Given the description of an element on the screen output the (x, y) to click on. 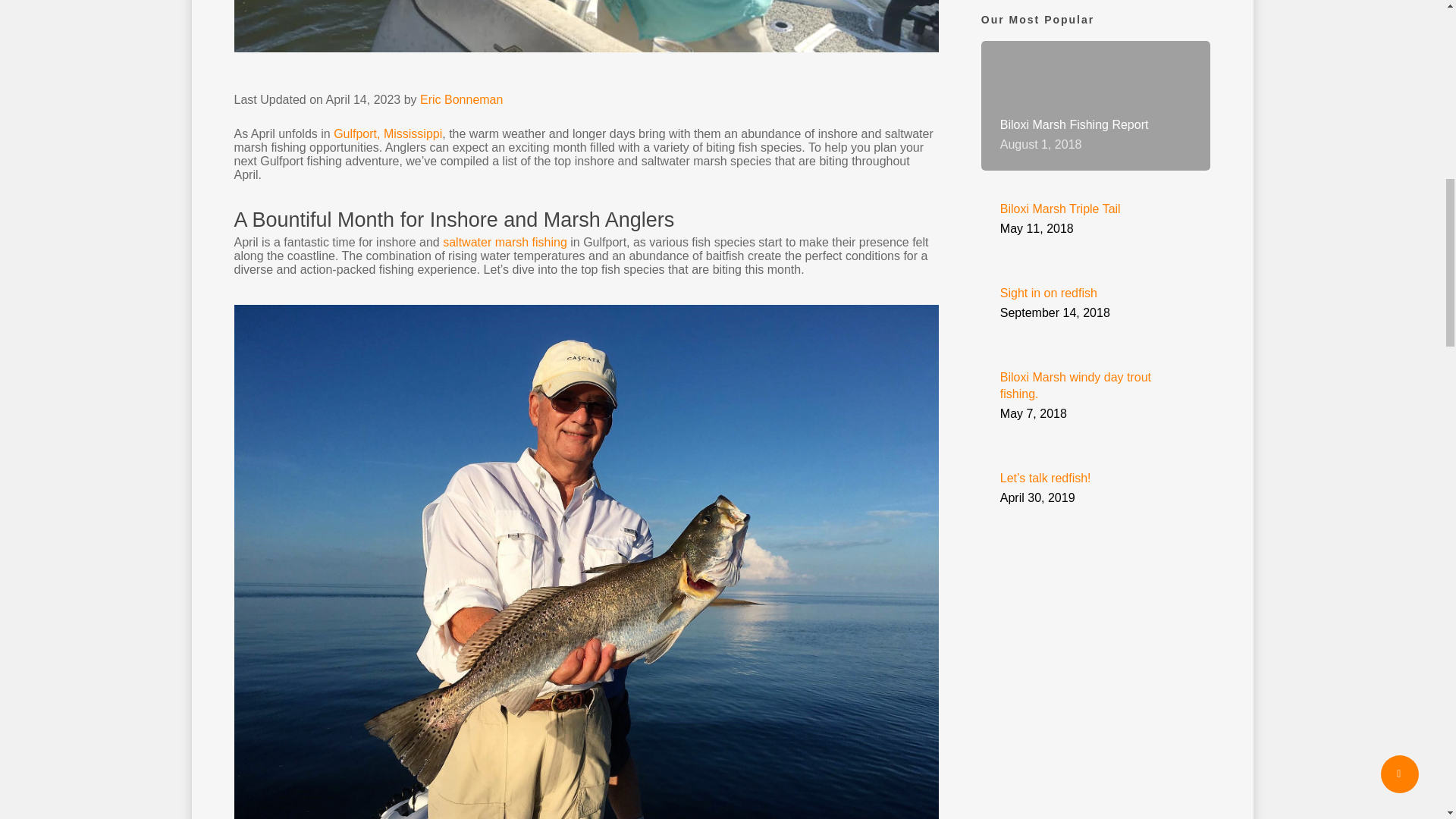
Planning A Louisiana Fishing Trip on May 29, 2024 (1005, 5)
Gulfport, Mississippi (387, 133)
saltwater marsh fishing (504, 241)
Eric Bonneman (461, 99)
